Given the description of an element on the screen output the (x, y) to click on. 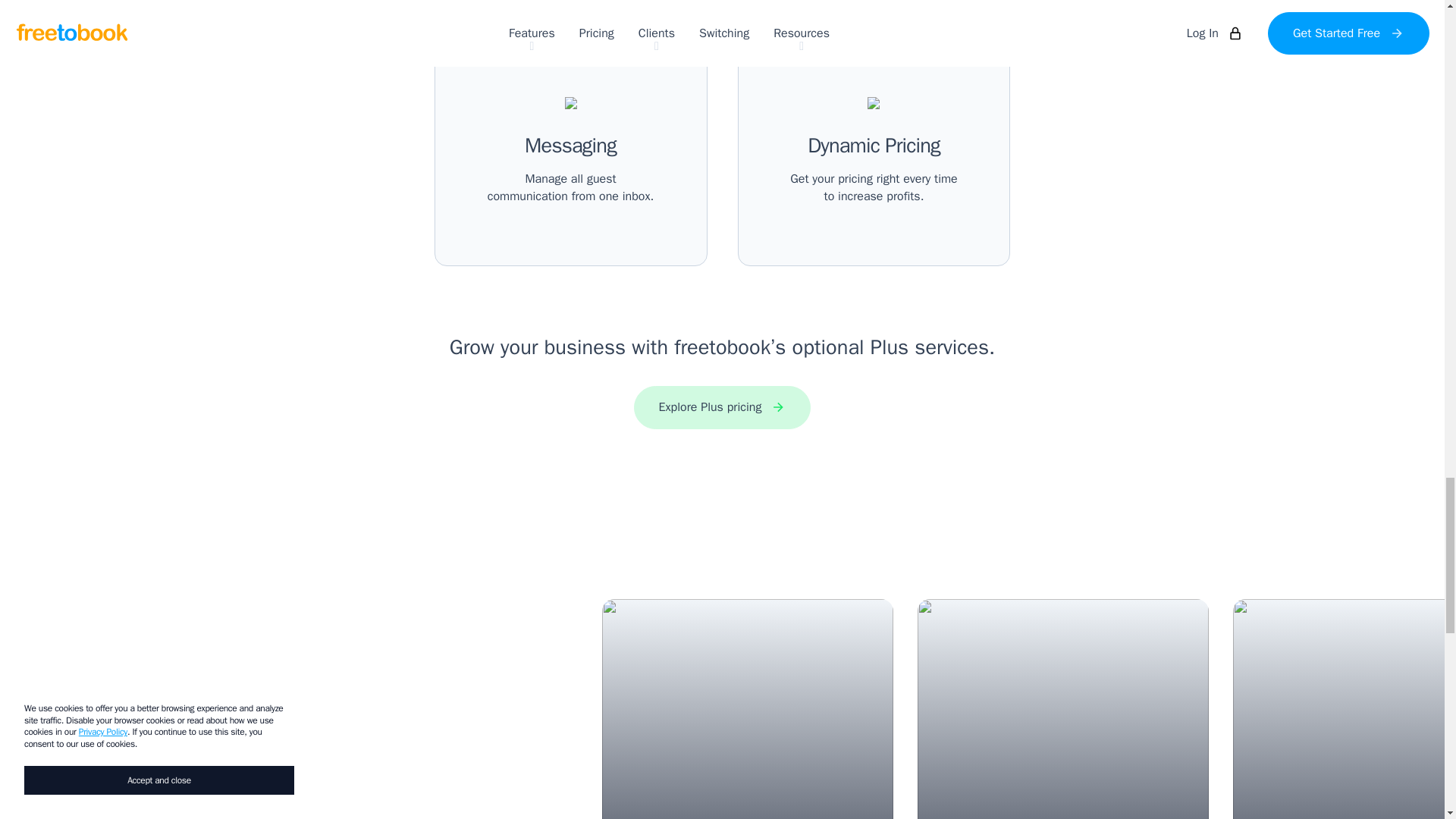
Explore Plus pricing (1062, 708)
